Given the description of an element on the screen output the (x, y) to click on. 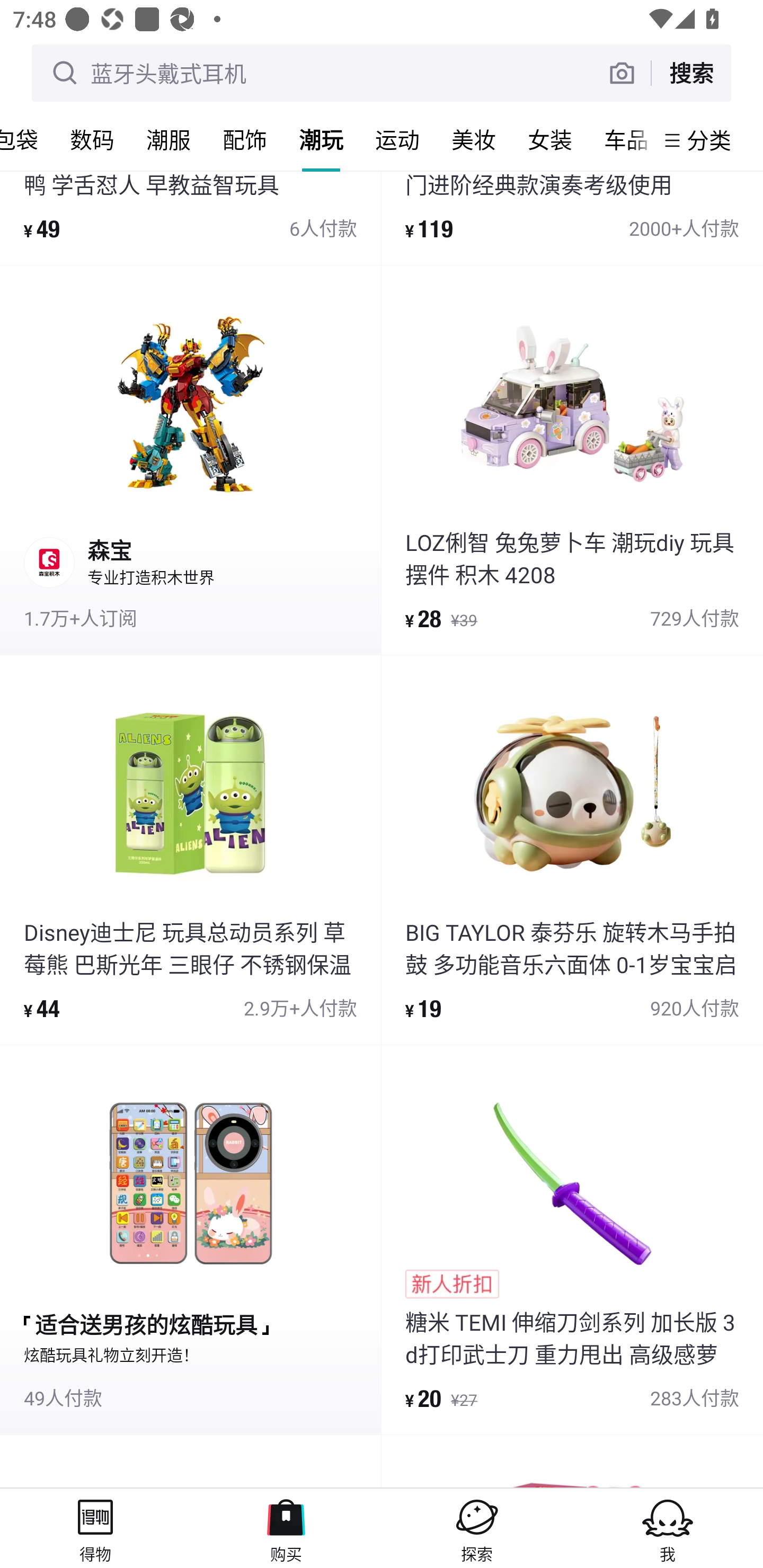
搜索 (690, 72)
包袋 (27, 139)
数码 (92, 139)
潮服 (168, 139)
配饰 (244, 139)
潮玩 (321, 139)
运动 (397, 139)
美妆 (473, 139)
女装 (549, 139)
车品 (621, 139)
分类 (708, 139)
森宝 专业打造积木世界 1.7万+人订阅 (190, 459)
适合送男孩的炫酷玩具 炫酷玩具礼物立刻开造！ 49人付款 (190, 1239)
得物 (95, 1528)
购买 (285, 1528)
探索 (476, 1528)
我 (667, 1528)
